Given the description of an element on the screen output the (x, y) to click on. 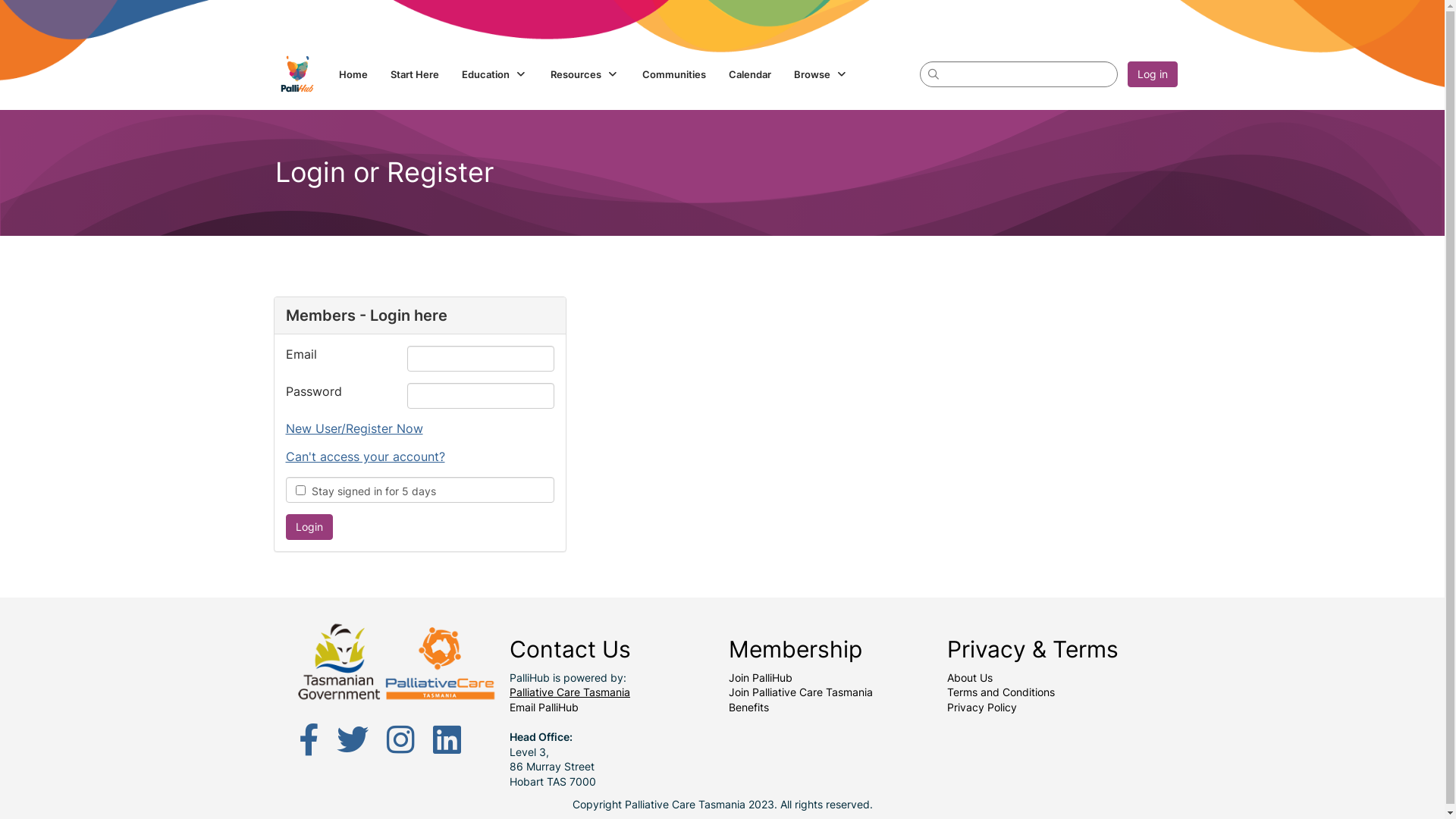
Benefits Element type: text (748, 706)
Join PalliHub Element type: text (759, 677)
Resources Element type: text (584, 73)
Email PalliHub Element type: text (543, 706)
Privacy Policy Element type: text (981, 706)
search Element type: hover (1018, 73)
Start Here Element type: text (414, 73)
Education Element type: text (494, 73)
Calendar Element type: text (749, 73)
Palliative Care Tasmania Element type: text (569, 691)
Browse Element type: text (820, 73)
About Us Element type: text (969, 677)
New User/Register Now Element type: text (353, 428)
Can't access your account? Element type: text (364, 456)
Join Palliative Care Tasmania Element type: text (800, 691)
Home Element type: text (353, 73)
Terms and Conditions Element type: text (1000, 691)
Log in Element type: text (1151, 73)
Communities Element type: text (673, 73)
Login Element type: text (308, 526)
